Given the description of an element on the screen output the (x, y) to click on. 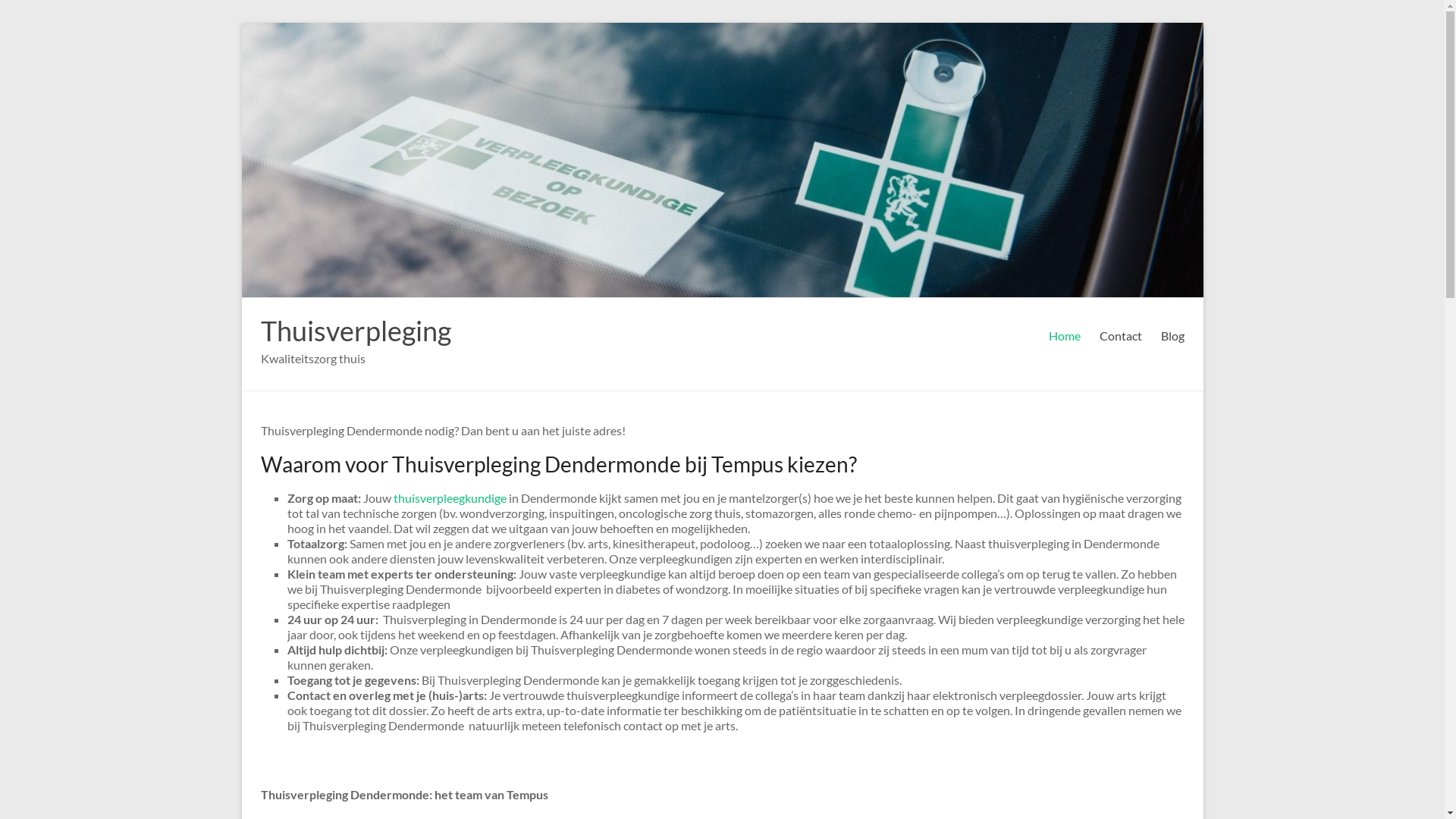
Contact Element type: text (1120, 335)
Ga naar inhoud Element type: text (241, 21)
Thuisverpleging Element type: text (355, 330)
Blog Element type: text (1171, 335)
thuisverpleegkundige Element type: text (448, 497)
Home Element type: text (1063, 335)
